Given the description of an element on the screen output the (x, y) to click on. 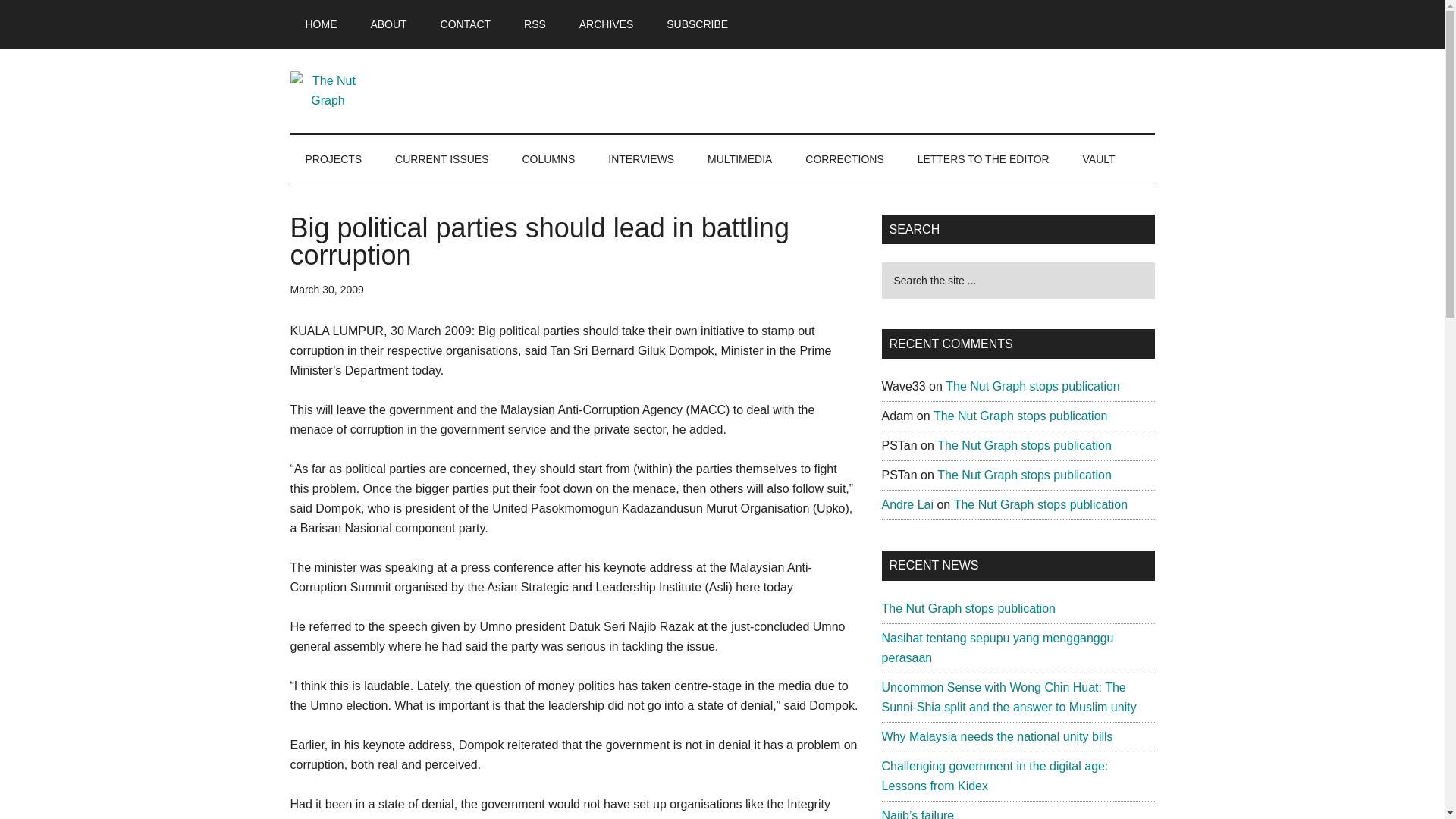
ARCHIVES (606, 24)
CONTACT (465, 24)
LETTERS TO THE EDITOR (983, 159)
CORRECTIONS (844, 159)
PROJECTS (333, 159)
COLUMNS (547, 159)
VAULT (1099, 159)
RSS (534, 24)
CURRENT ISSUES (441, 159)
ABOUT (388, 24)
